Given the description of an element on the screen output the (x, y) to click on. 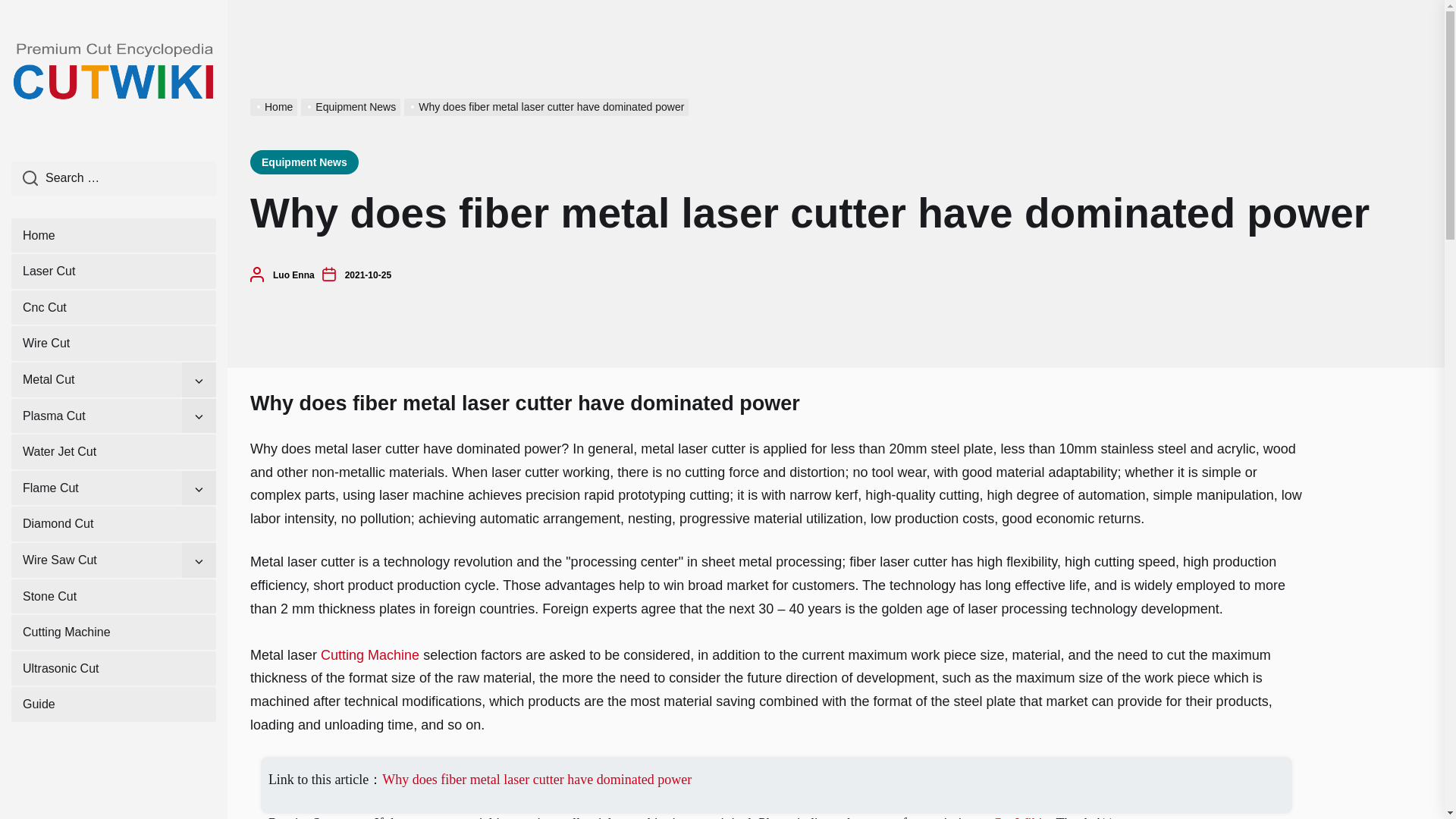
Home (275, 106)
Luo Enna (293, 275)
Wire Cut (113, 343)
Show sub menu (198, 416)
2021-10-25 (368, 275)
Ultrasonic Cut (113, 668)
Stone Cut (113, 596)
Wire Saw Cut (96, 560)
Cnc Cut (113, 307)
Guide (113, 704)
Home (113, 235)
Equipment News (304, 161)
Show sub menu (198, 488)
Show sub menu (198, 379)
Why does fiber metal laser cutter have dominated power (548, 106)
